Given the description of an element on the screen output the (x, y) to click on. 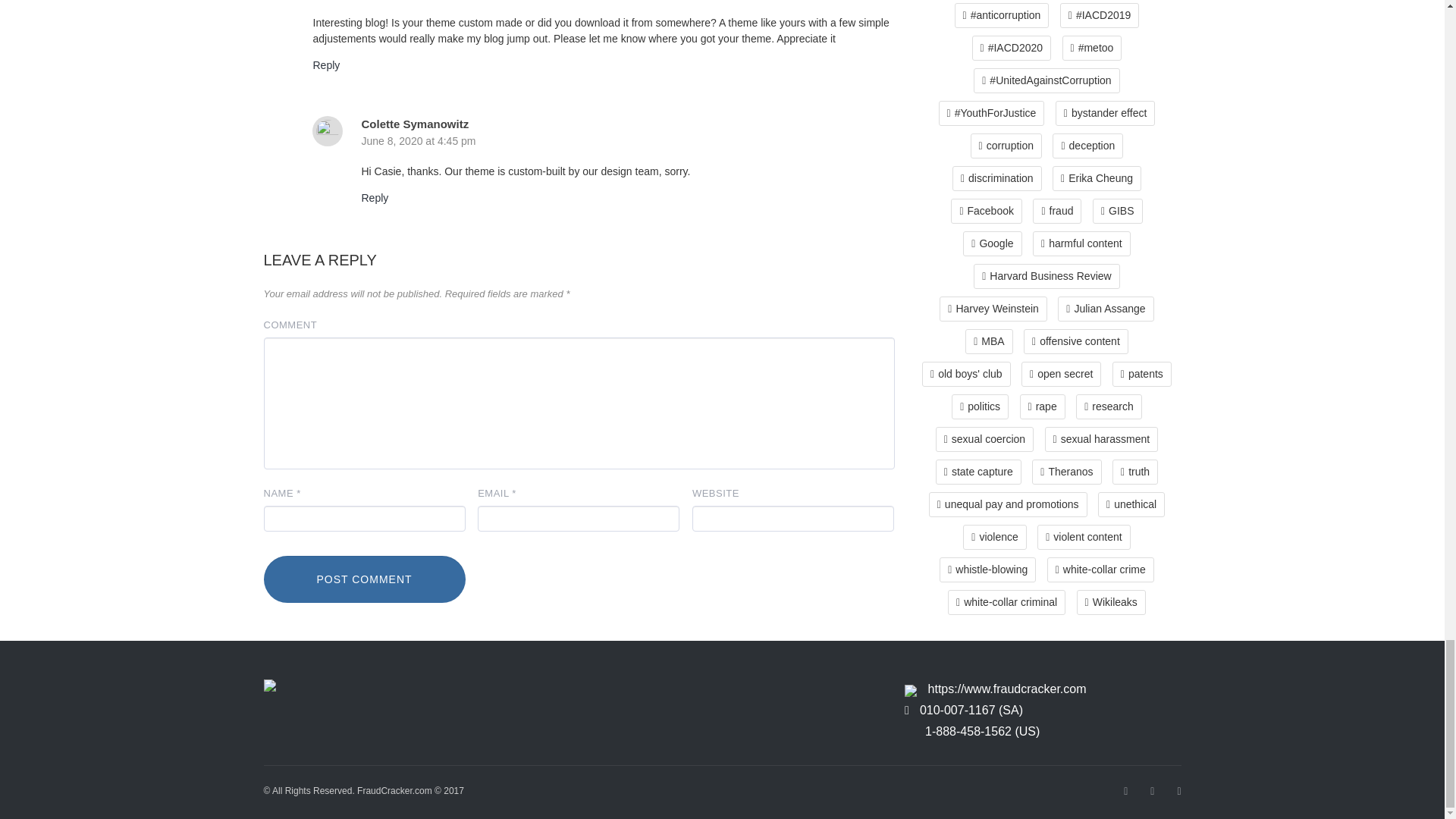
010-007-1167 (971, 709)
1-888-458-1562 (981, 730)
Post Comment (364, 579)
